Given the description of an element on the screen output the (x, y) to click on. 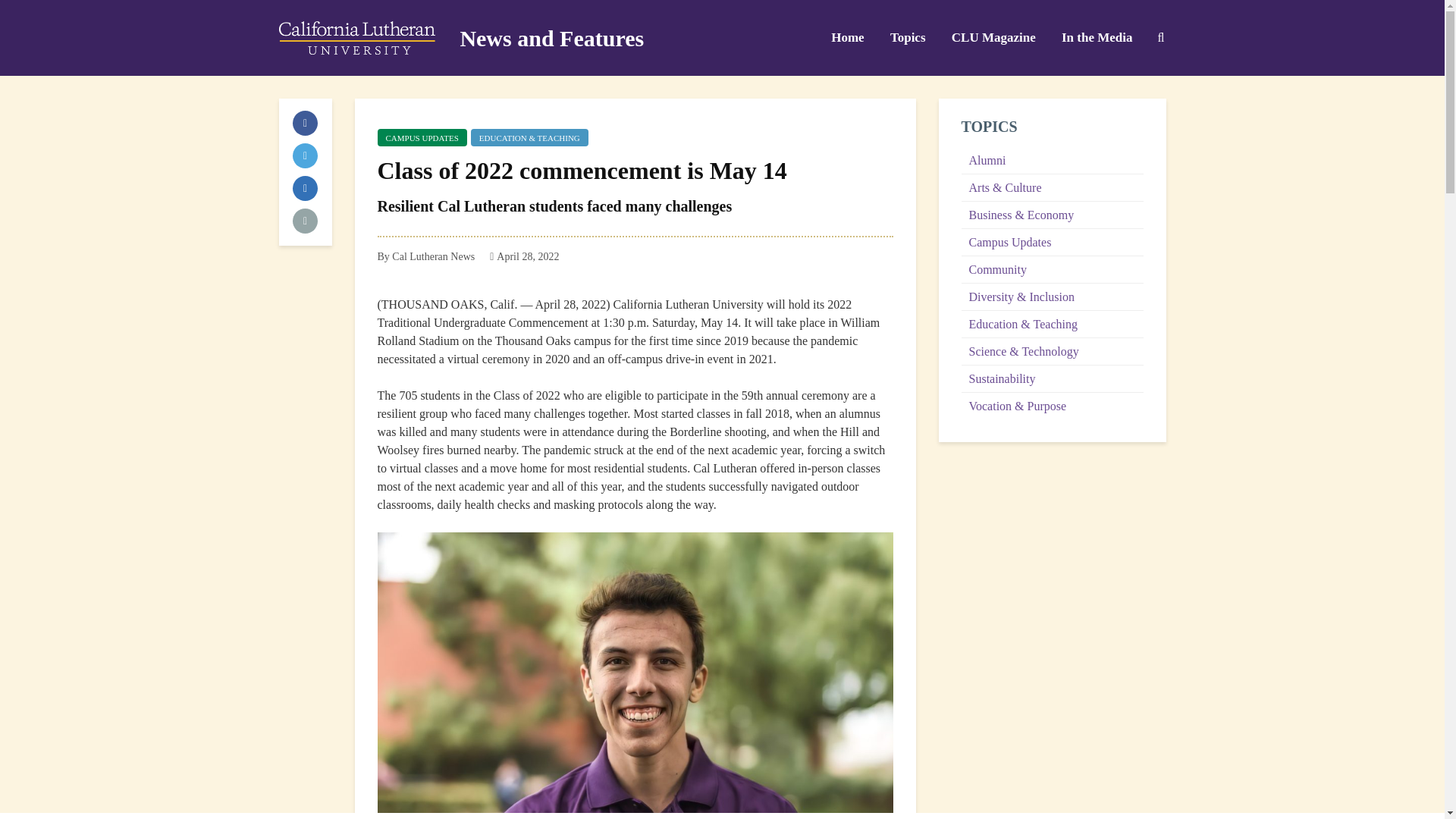
CLU Magazine (993, 37)
In the Media (1096, 37)
Home (847, 37)
Topics (908, 37)
News and Features (551, 37)
